Given the description of an element on the screen output the (x, y) to click on. 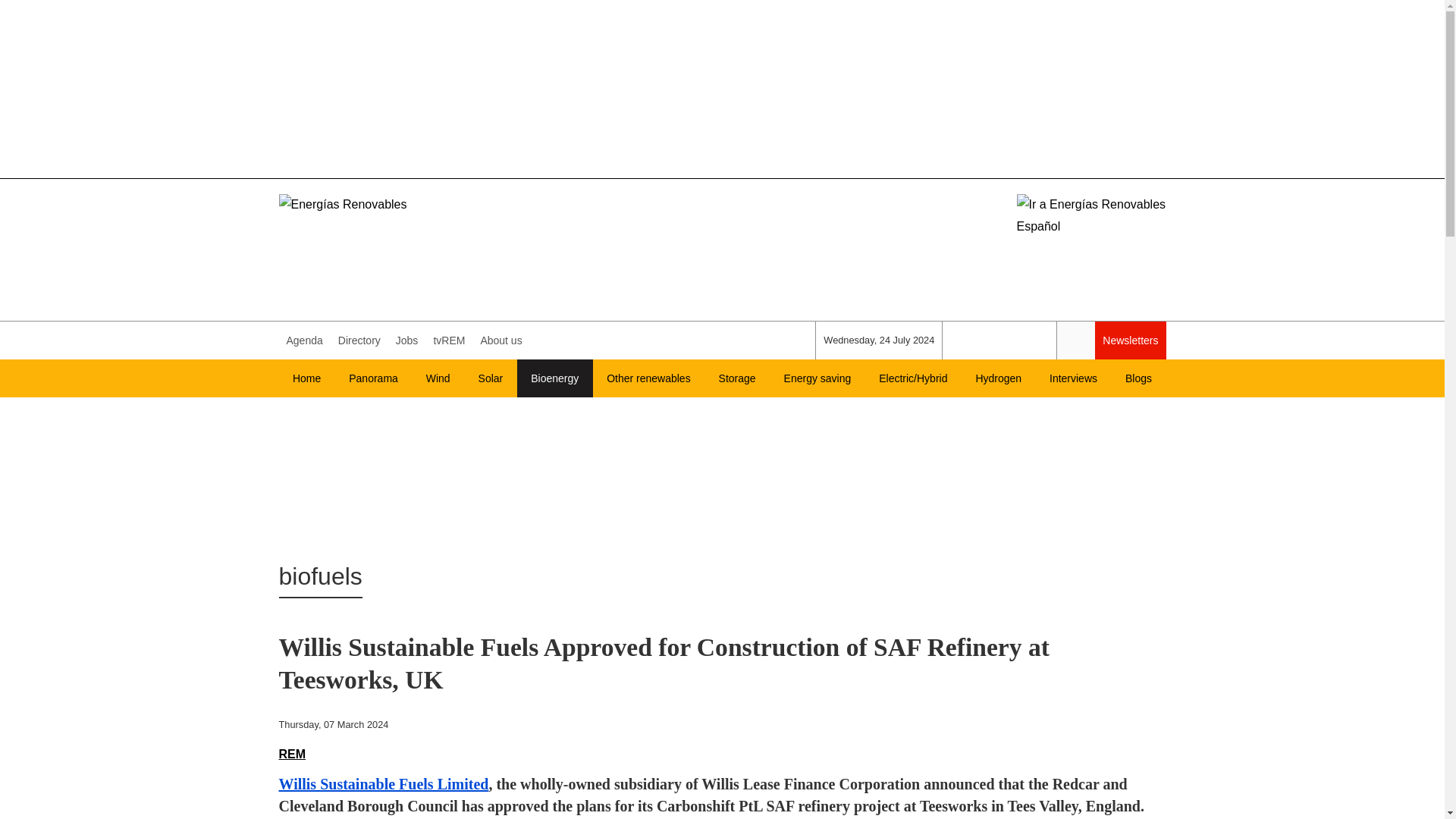
Agenda (304, 340)
Ir a Inicio (429, 234)
Go to Home (306, 378)
Newsletters (1130, 340)
Go to Jobs (407, 340)
Go to Videos (448, 340)
Go to Wind (438, 378)
Go to Companies directory (359, 340)
Interviews (1073, 378)
Blogs (1139, 378)
Home (306, 378)
Energy saving (817, 378)
Other renewables (648, 378)
Storage (737, 378)
Jobs (407, 340)
